Given the description of an element on the screen output the (x, y) to click on. 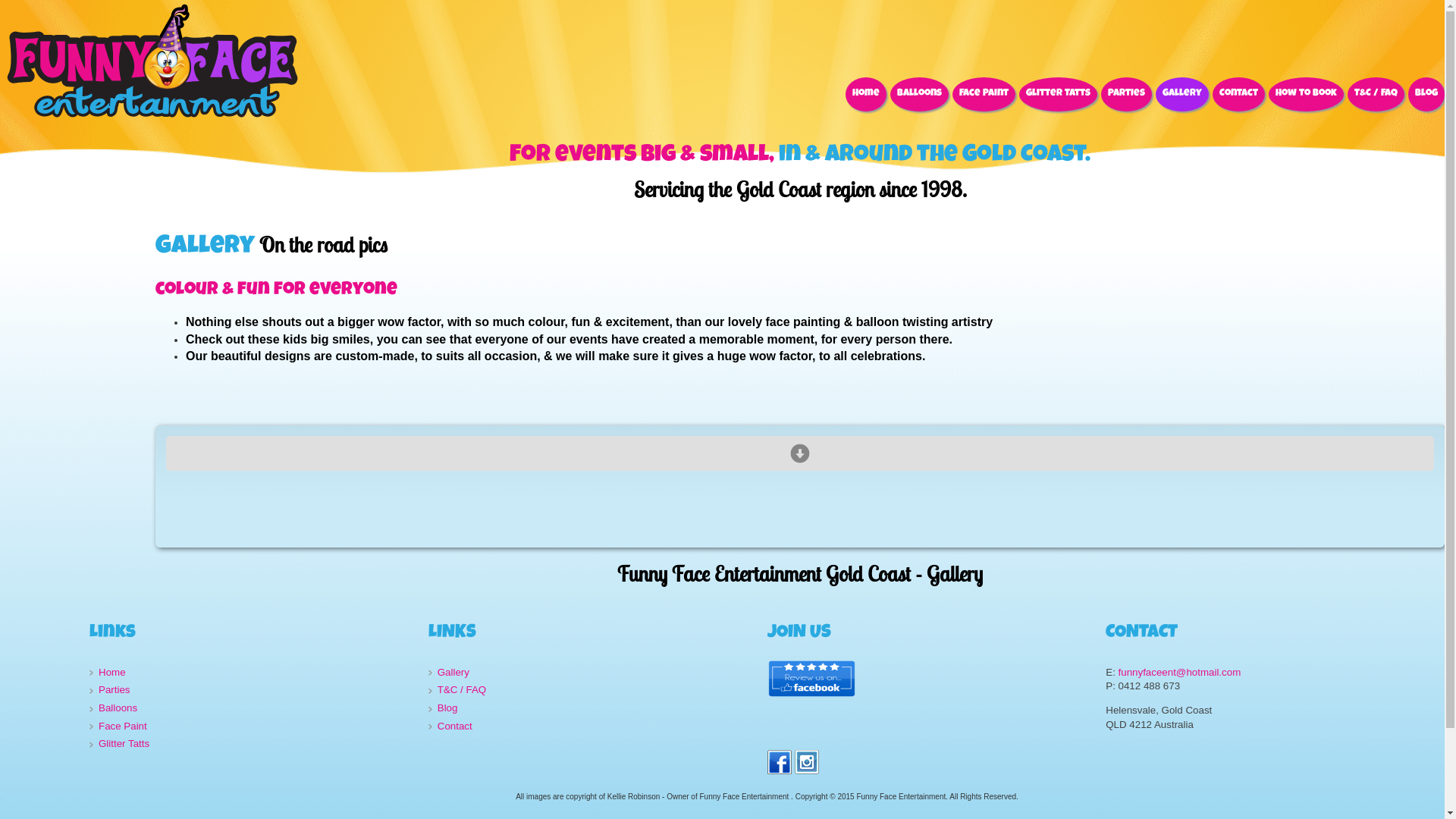
Parties Element type: text (253, 690)
Blog Element type: text (1426, 94)
Glitter Tatts Element type: text (253, 744)
T&C / FAQ Element type: text (1375, 94)
funnyfaceent@hotmail.com Element type: text (1179, 671)
Gallery Element type: text (1181, 94)
Face Paint Element type: text (983, 94)
Contact Element type: text (1238, 94)
Home Element type: text (253, 672)
Balloons Element type: text (919, 94)
Face Paint Element type: text (253, 726)
Contact Element type: text (592, 726)
Blog Element type: text (592, 708)
T&C / FAQ Element type: text (592, 690)
How to Book Element type: text (1305, 94)
Parties Element type: text (1126, 94)
Gallery Element type: text (592, 672)
Home Element type: text (865, 94)
Glitter Tatts Element type: text (1058, 94)
Balloons Element type: text (253, 708)
